Given the description of an element on the screen output the (x, y) to click on. 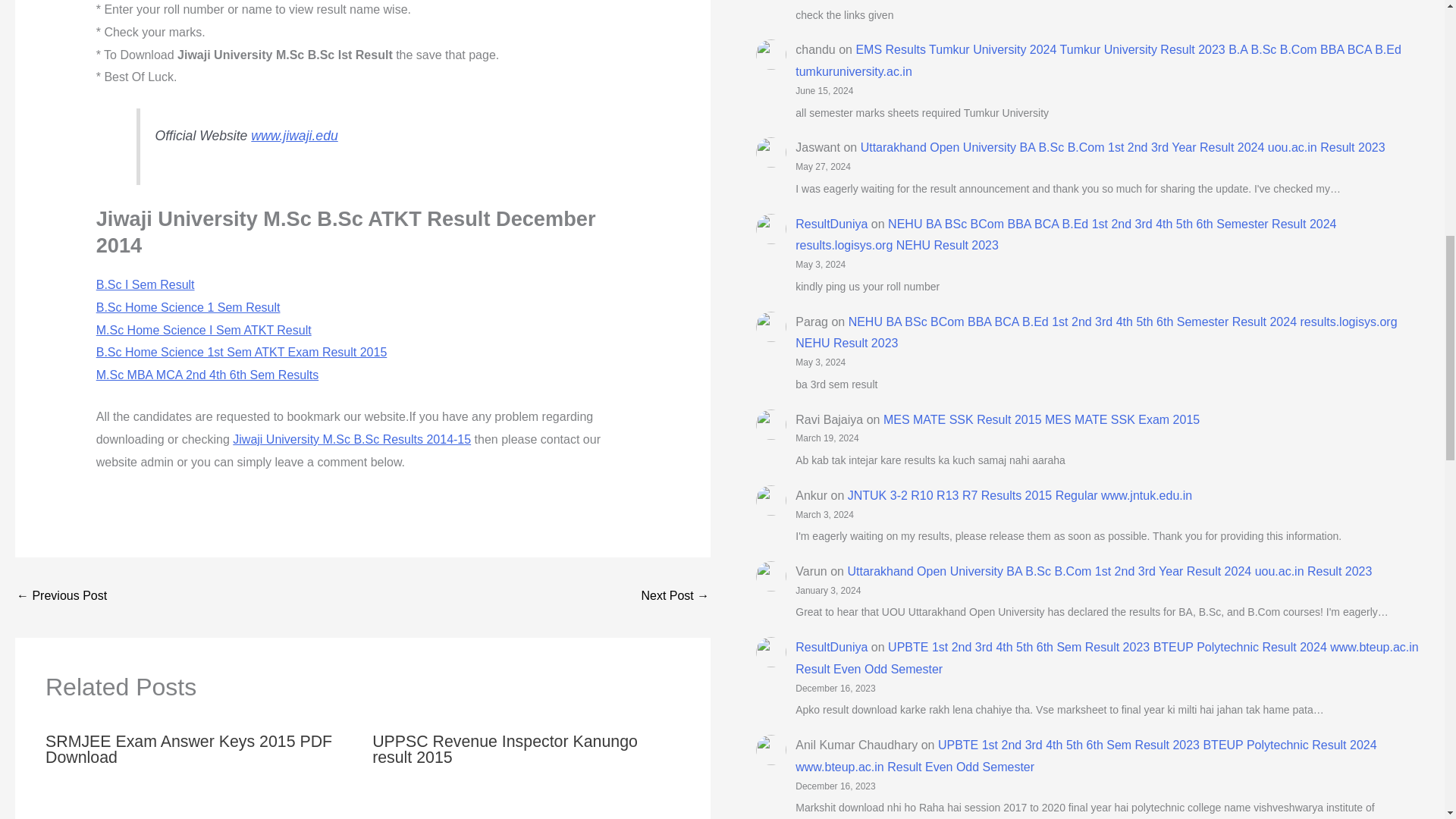
Jiwaji University M.Sc B.Sc Results 2014-15 (351, 439)
M.Sc MBA MCA 2nd 4th 6th Sem Results (207, 374)
B.Sc I Sem Result (145, 284)
UPPSC Revenue Inspector Kanungo result 2015 (504, 749)
B.Sc Home Science 1 Sem Result (188, 307)
www.jiwaji.edu (293, 135)
B.Sc Home Science 1st Sem ATKT Exam Result 2015 (241, 351)
SRMJEE Exam Answer Keys 2015 PDF Download (188, 749)
MGSU LL.B 2nd Year Part-II Result 2015 mgsubikaner.ac.in (61, 596)
M.Sc Home Science I Sem ATKT Result (203, 329)
